Given the description of an element on the screen output the (x, y) to click on. 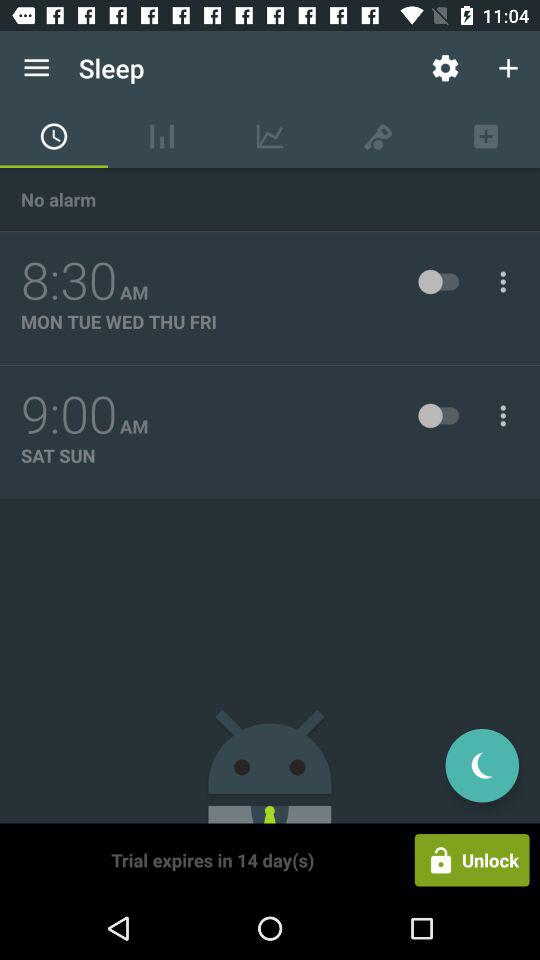
tap the icon above sat sun (69, 415)
